Given the description of an element on the screen output the (x, y) to click on. 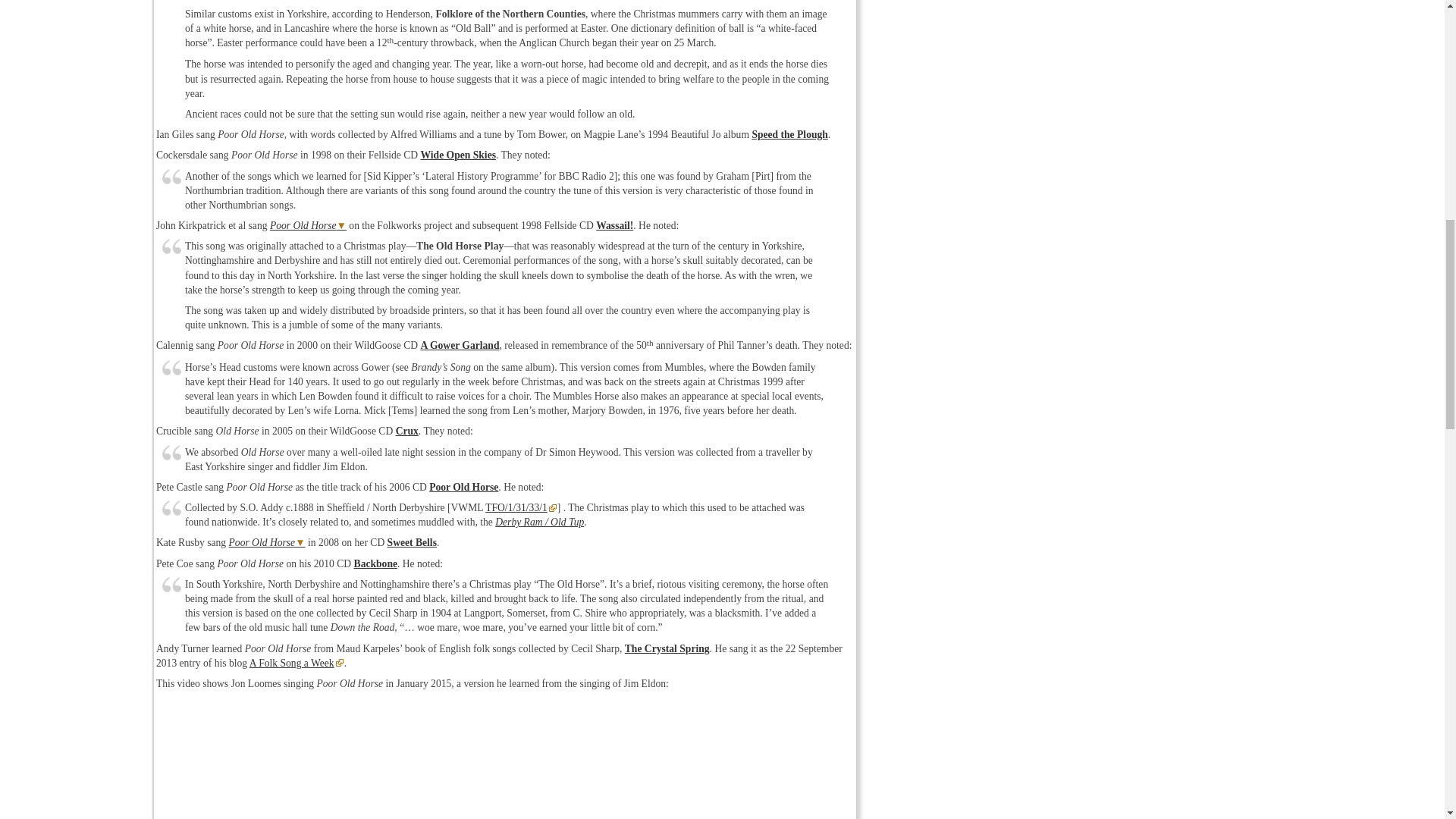
Poor Old Horse (307, 225)
Poor Old Horse (463, 487)
Sweet Bells (411, 542)
A Folk Song a Week (295, 663)
Wide Open Skies (457, 154)
Backbone (375, 563)
Crux (407, 430)
A Gower Garland (459, 345)
Speed the Plough (789, 134)
The Crystal Spring (667, 648)
